Given the description of an element on the screen output the (x, y) to click on. 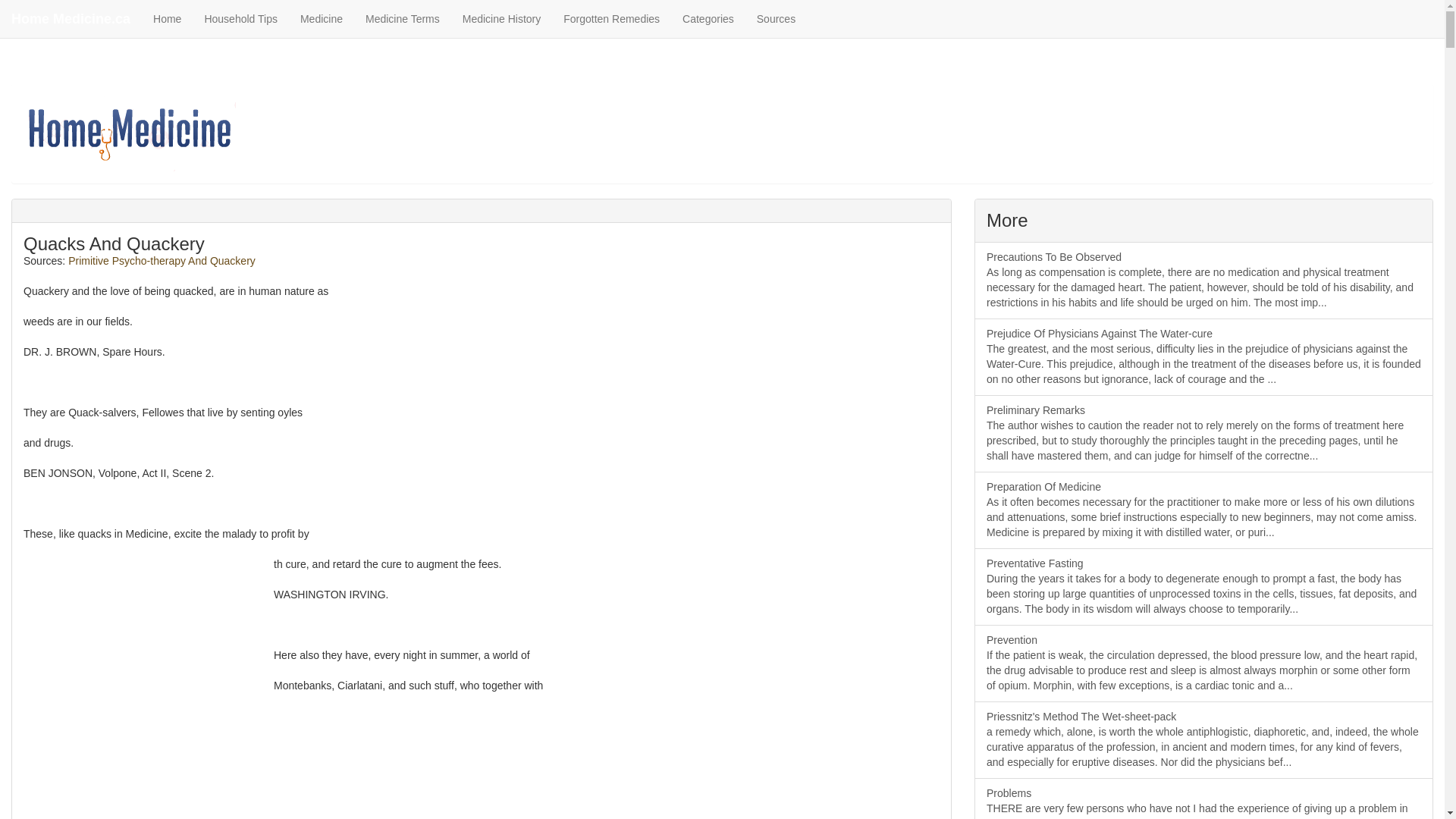
Medicine History (501, 18)
Home (166, 18)
Primitive Psycho-therapy And Quackery (162, 260)
Medicine (320, 18)
Sources (775, 18)
Medicine Terms (402, 18)
Advertisement (136, 703)
Home Medicine.ca (70, 18)
Categories (708, 18)
Forgotten Remedies (611, 18)
